Given the description of an element on the screen output the (x, y) to click on. 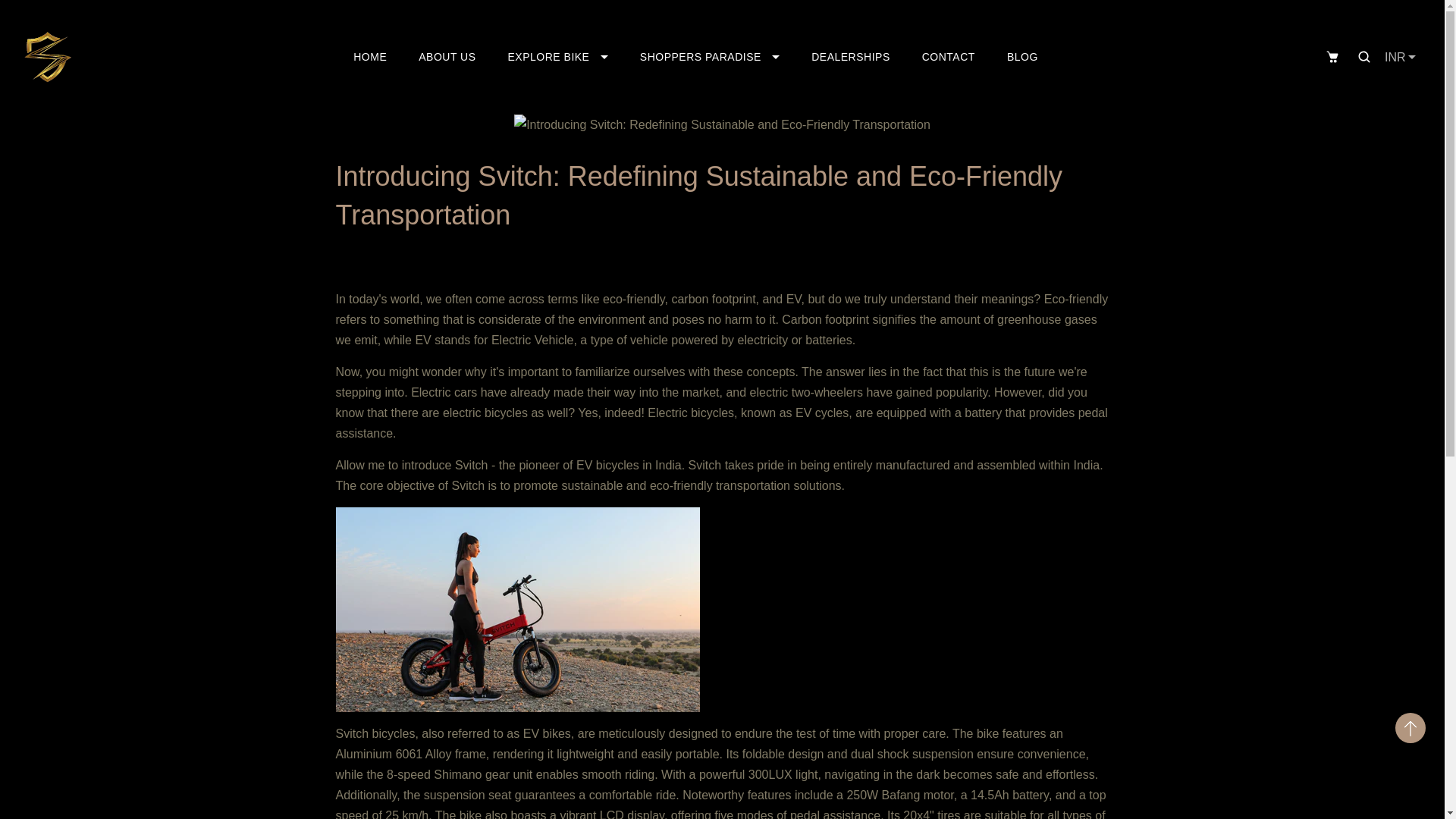
SHOPPERS PARADISE (709, 56)
Your Cart (1332, 56)
EXPLORE BIKE (558, 56)
ABOUT US (446, 56)
Search (1363, 56)
DEALERSHIPS (850, 56)
HOME (369, 56)
BLOG (1021, 56)
CONTACT (948, 56)
